Given the description of an element on the screen output the (x, y) to click on. 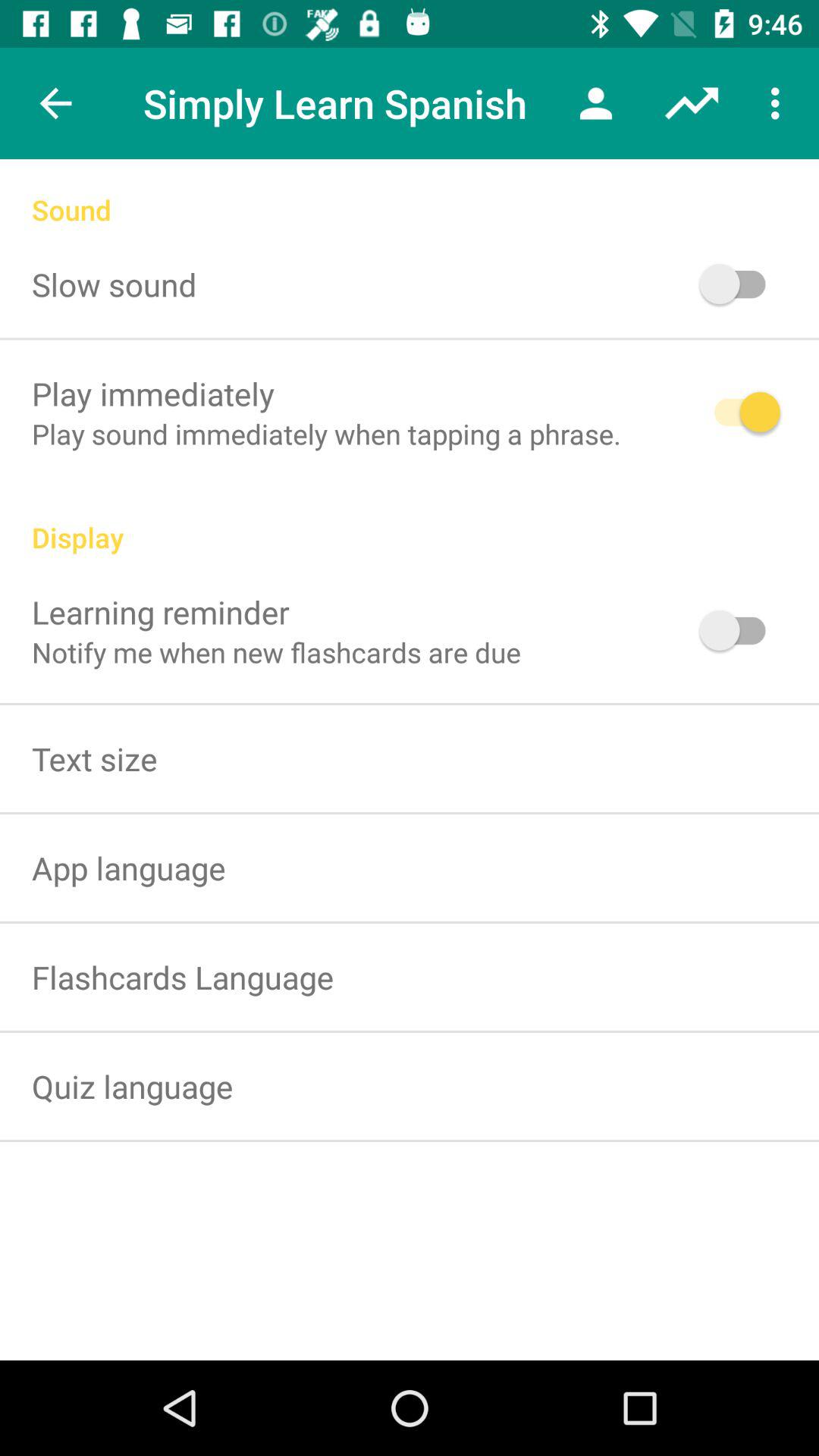
select item to the left of the simply learn spanish (55, 103)
